Given the description of an element on the screen output the (x, y) to click on. 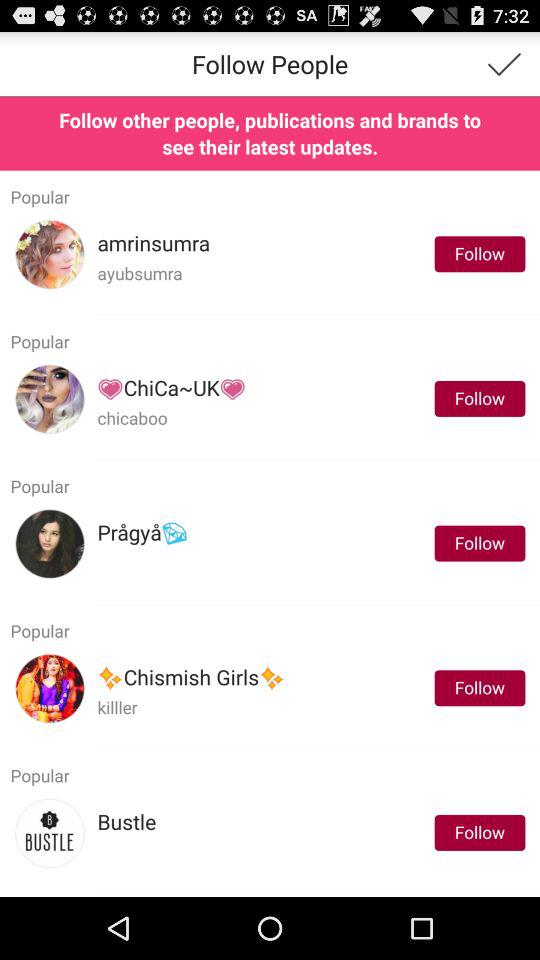
click item below popular app (126, 822)
